Given the description of an element on the screen output the (x, y) to click on. 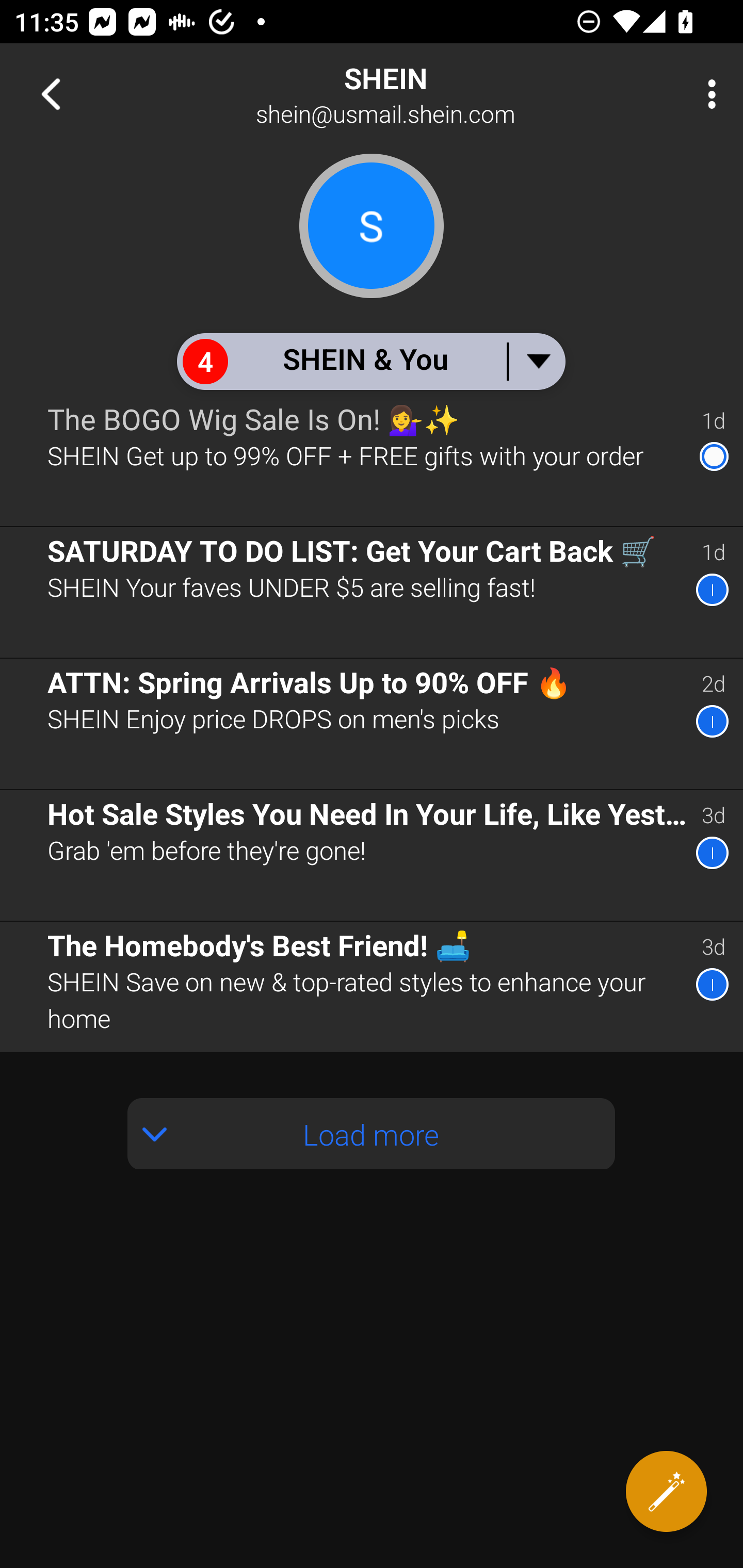
Navigate up (50, 93)
SHEIN shein@usmail.shein.com (436, 93)
More Options (706, 93)
4 SHEIN & You (370, 361)
Load more (371, 1132)
